Given the description of an element on the screen output the (x, y) to click on. 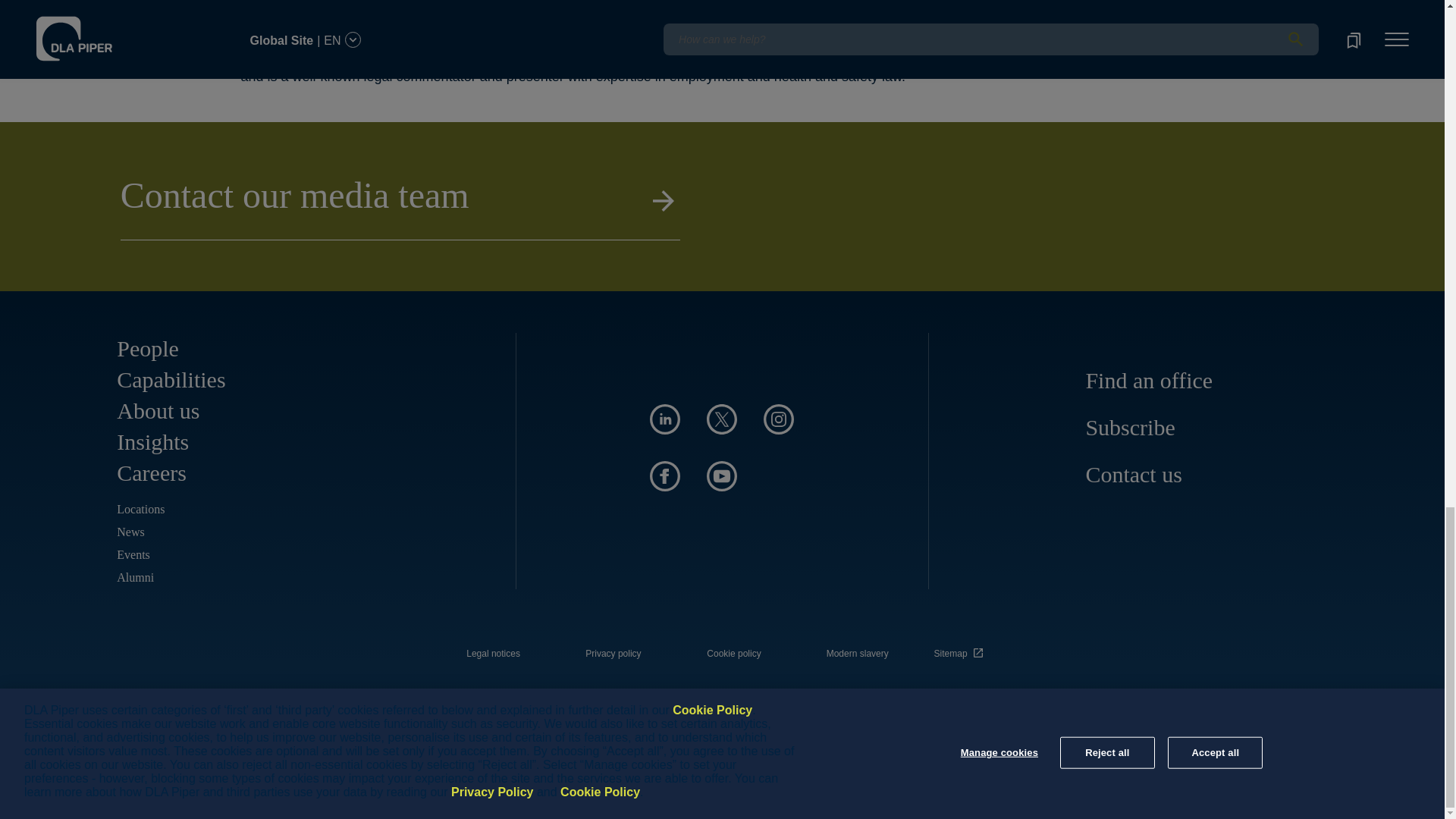
internal (857, 653)
internal (493, 653)
internal (734, 653)
internal (612, 653)
external (960, 649)
